Given the description of an element on the screen output the (x, y) to click on. 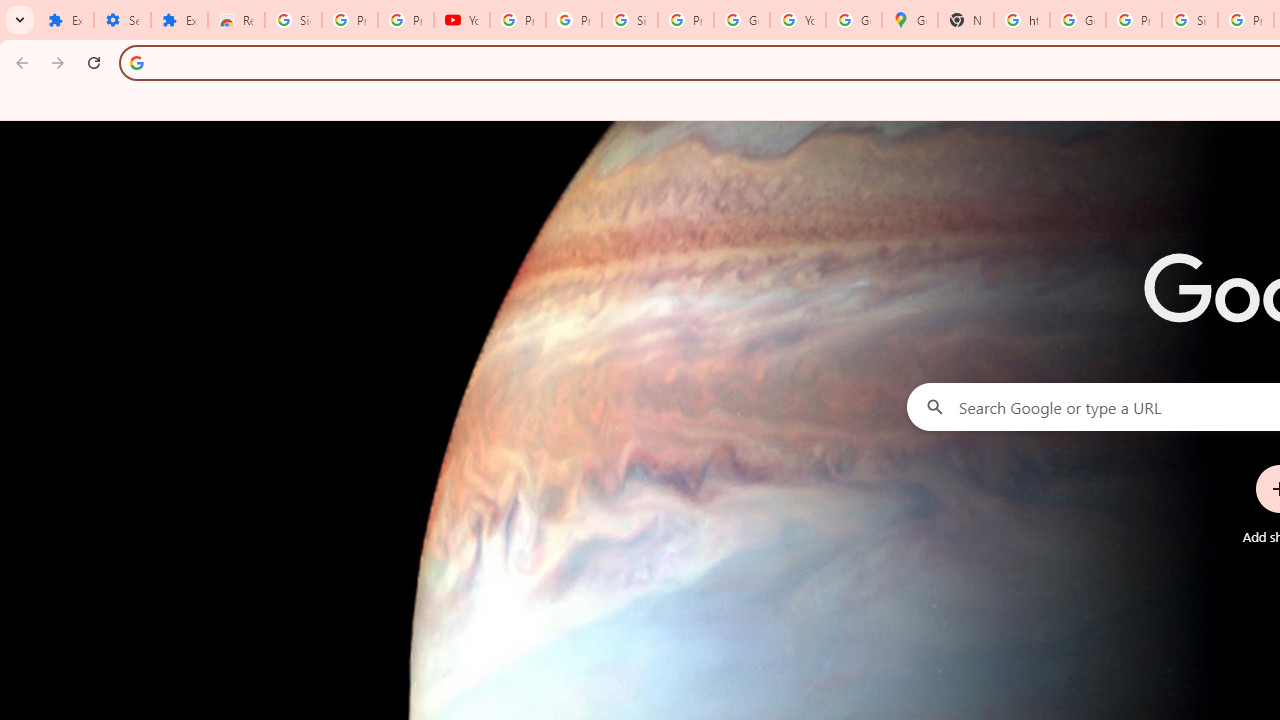
https://scholar.google.com/ (1021, 20)
Sign in - Google Accounts (1190, 20)
Sign in - Google Accounts (629, 20)
YouTube (797, 20)
